Given the description of an element on the screen output the (x, y) to click on. 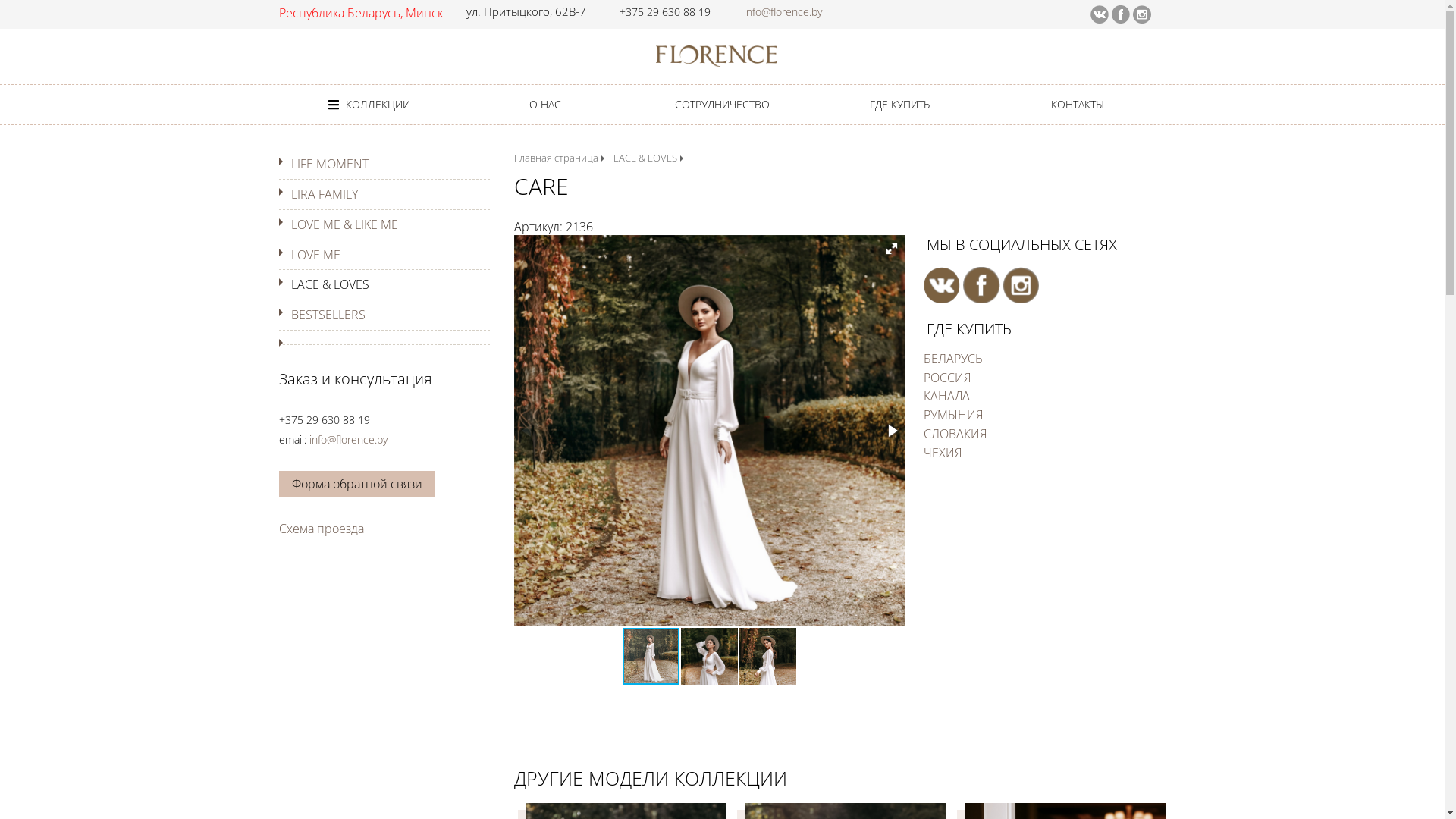
LACE & LOVES Element type: text (330, 284)
facebook Element type: hover (1120, 11)
vk Element type: hover (1099, 11)
vk Element type: hover (941, 274)
LACE & LOVES Element type: text (644, 158)
LOVE ME & LIKE ME Element type: text (344, 224)
info@florence.by Element type: text (782, 11)
info@florence.by Element type: text (348, 439)
BESTSELLERS Element type: text (328, 314)
instagram Element type: hover (1141, 11)
LOVE ME Element type: text (315, 254)
facebook Element type: hover (981, 274)
LIFE MOMENT Element type: text (329, 163)
LIRA FAMILY Element type: text (324, 193)
instagram Element type: hover (1020, 274)
